Given the description of an element on the screen output the (x, y) to click on. 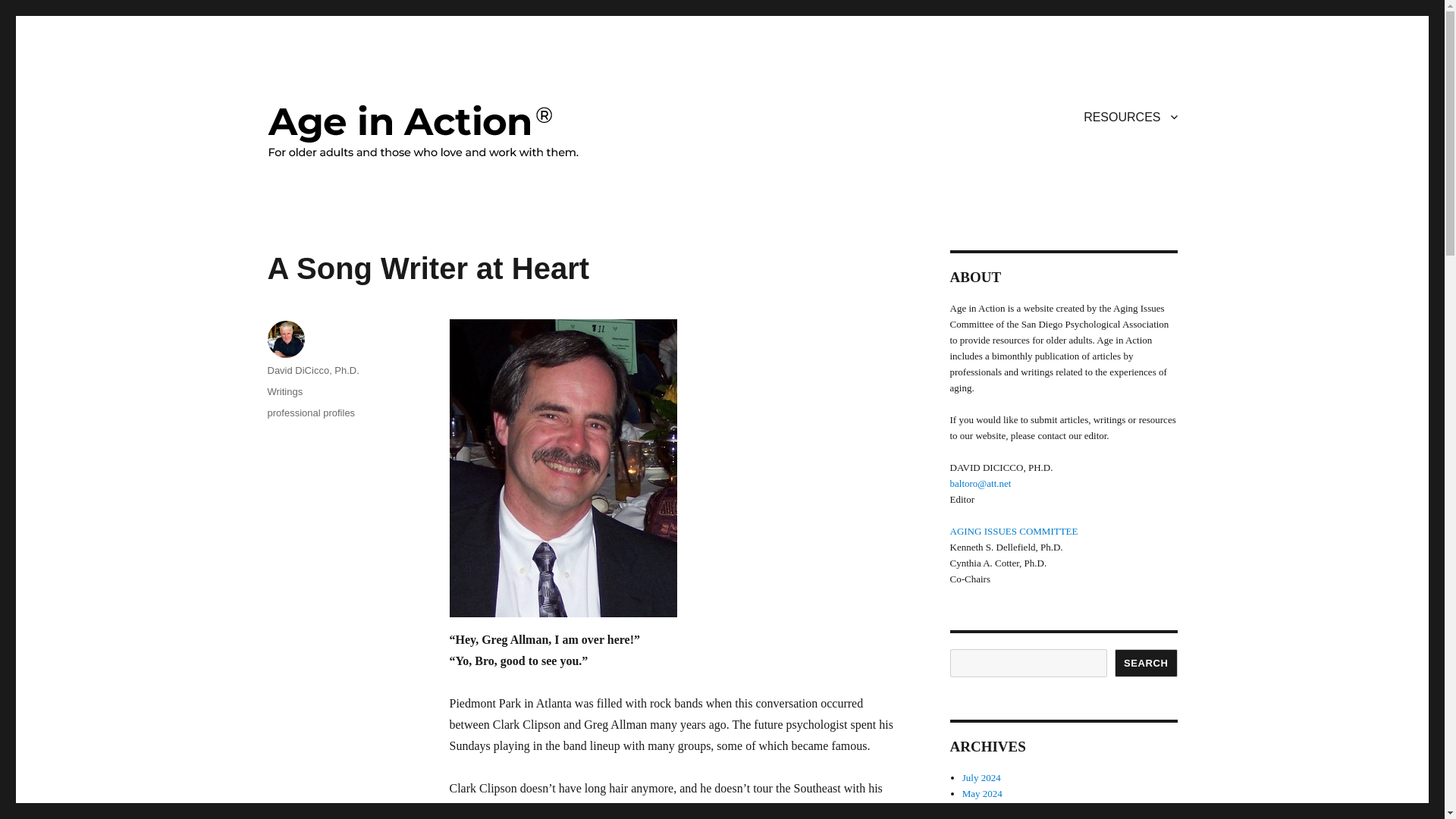
March 2024 (986, 808)
AGING ISSUES COMMITTEE (1013, 531)
AGE IN ACTION (346, 114)
David DiCicco, Ph.D. (312, 369)
SEARCH (1146, 663)
May 2024 (982, 793)
RESOURCES (1130, 116)
July 2024 (981, 777)
Writings (284, 391)
professional profiles (310, 412)
